Given the description of an element on the screen output the (x, y) to click on. 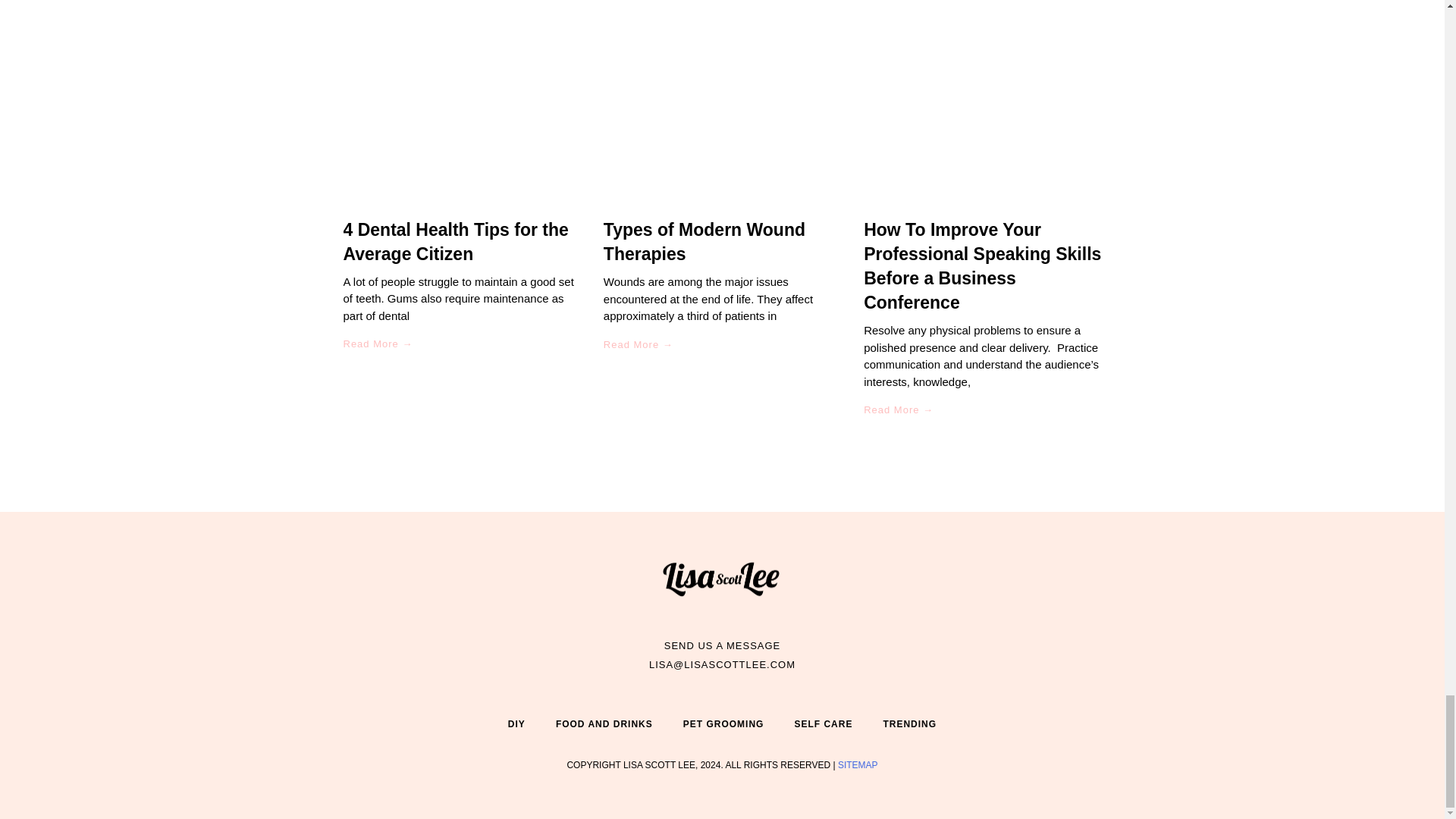
Types of Modern Wound Therapies (704, 241)
PET GROOMING (723, 723)
4 Dental Health Tips for the Average Citizen (454, 240)
DIY (516, 723)
FOOD AND DRINKS (604, 723)
